Given the description of an element on the screen output the (x, y) to click on. 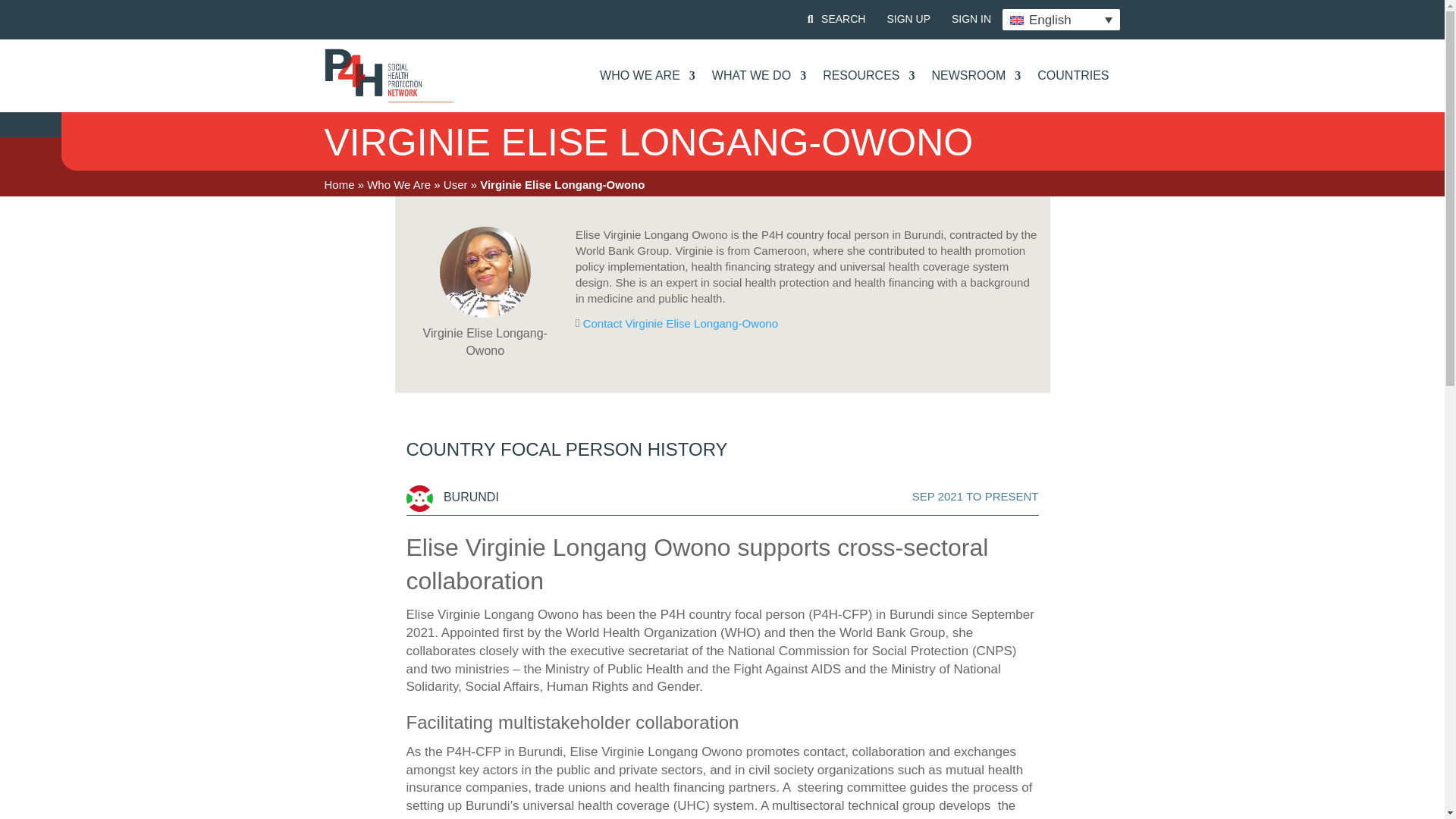
WHAT WE DO (758, 75)
SIGN UP (908, 19)
NEWSROOM (975, 75)
WHO WE ARE (647, 75)
SIGN IN (970, 19)
English (1060, 19)
SEARCH (843, 19)
COUNTRIES (1072, 75)
RESOURCES (868, 75)
